Given the description of an element on the screen output the (x, y) to click on. 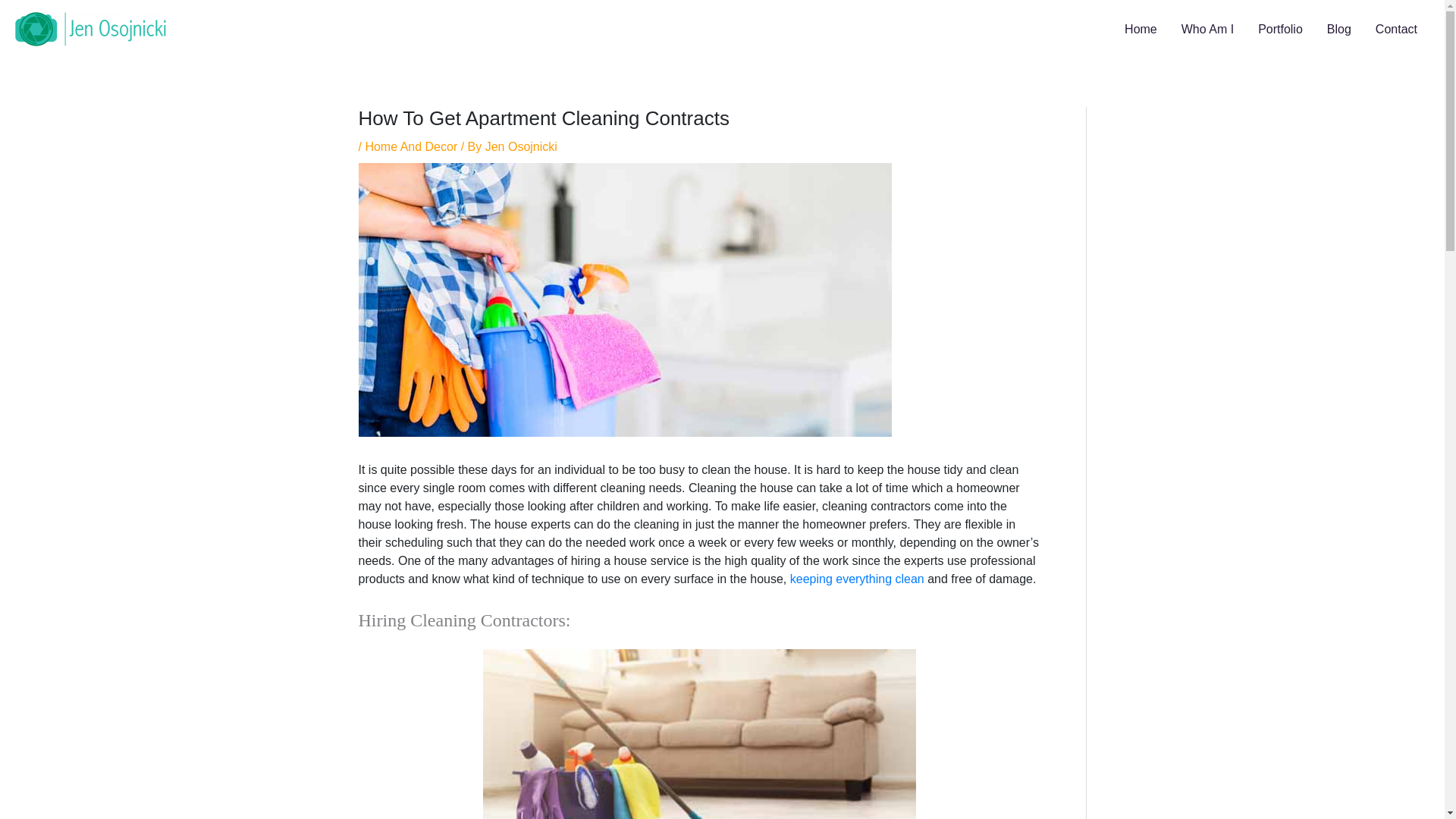
Home (1140, 28)
keeping everything clean (857, 578)
Contact (1395, 28)
Jen Osojnicki (520, 146)
View all posts by Jen Osojnicki (520, 146)
Portfolio (1280, 28)
Home And Decor (411, 146)
Who Am I (1207, 28)
Blog (1338, 28)
